Given the description of an element on the screen output the (x, y) to click on. 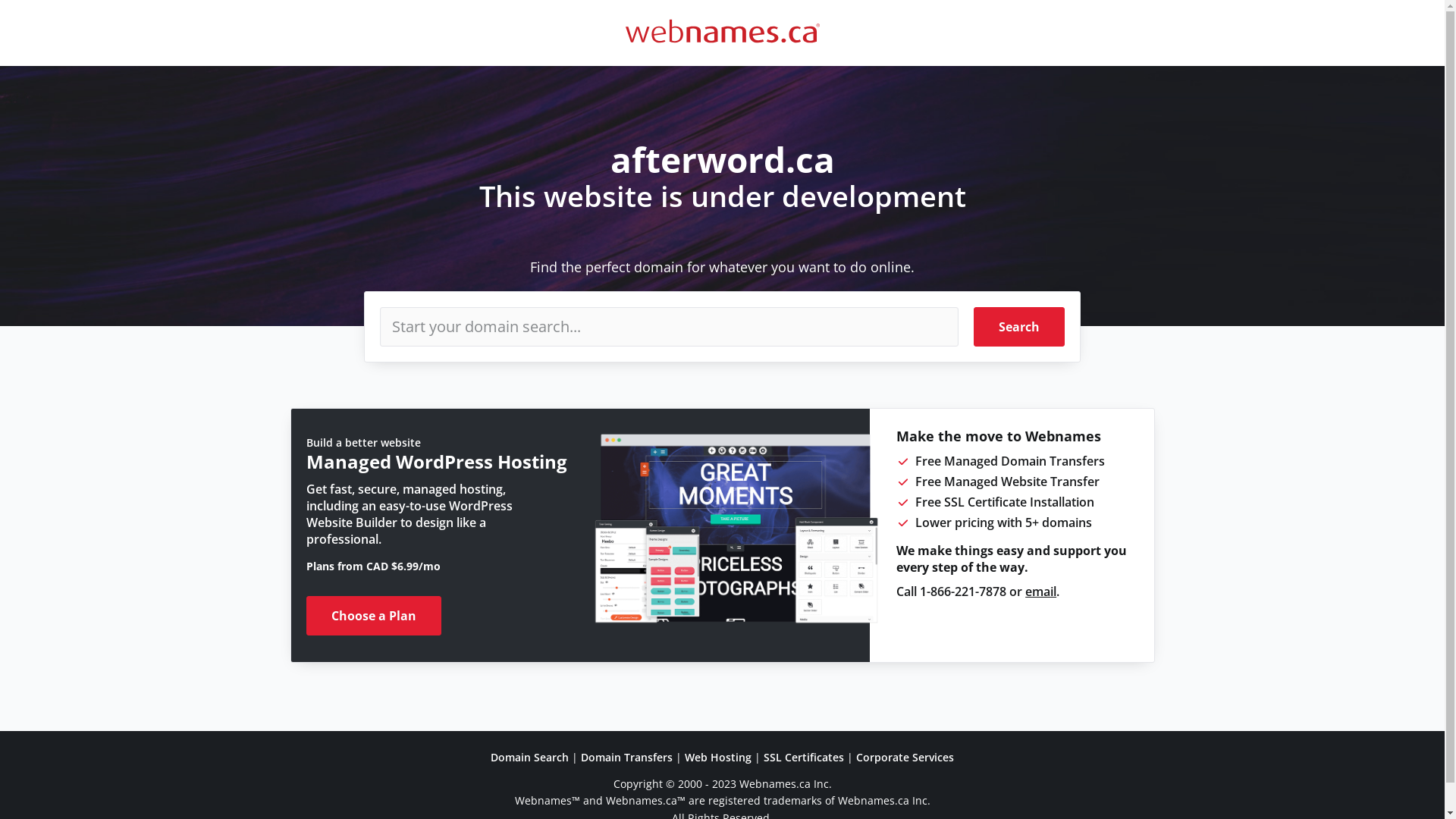
Domain Transfers Element type: text (626, 756)
Corporate Services Element type: text (904, 756)
Search Element type: text (1018, 326)
email Element type: text (1040, 591)
Web Hosting Element type: text (717, 756)
Choose a Plan Element type: text (373, 615)
1-866-221-7878 Element type: text (962, 591)
SSL Certificates Element type: text (803, 756)
Domain Search Element type: text (529, 756)
